Given the description of an element on the screen output the (x, y) to click on. 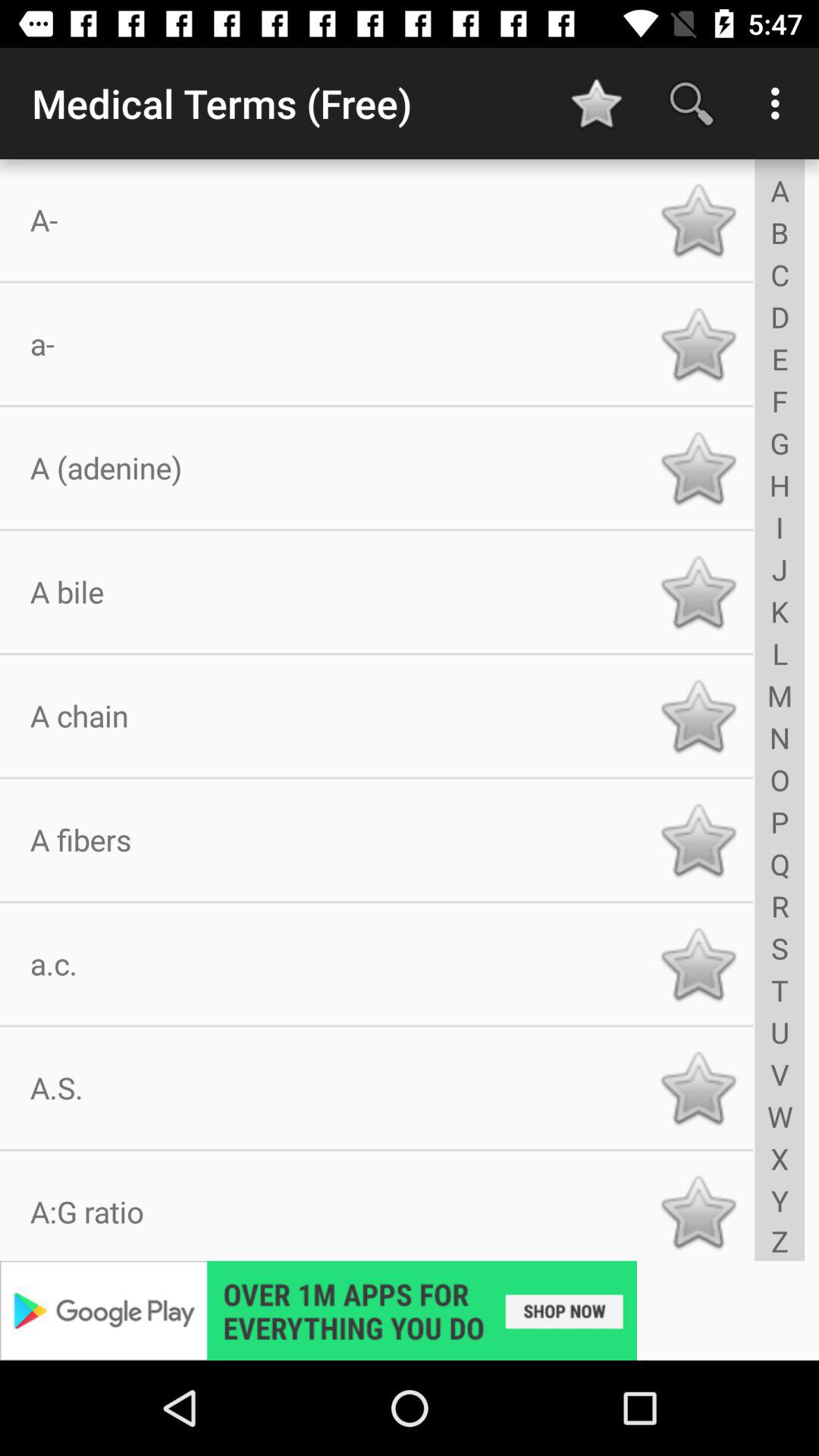
advertising (409, 1310)
